Given the description of an element on the screen output the (x, y) to click on. 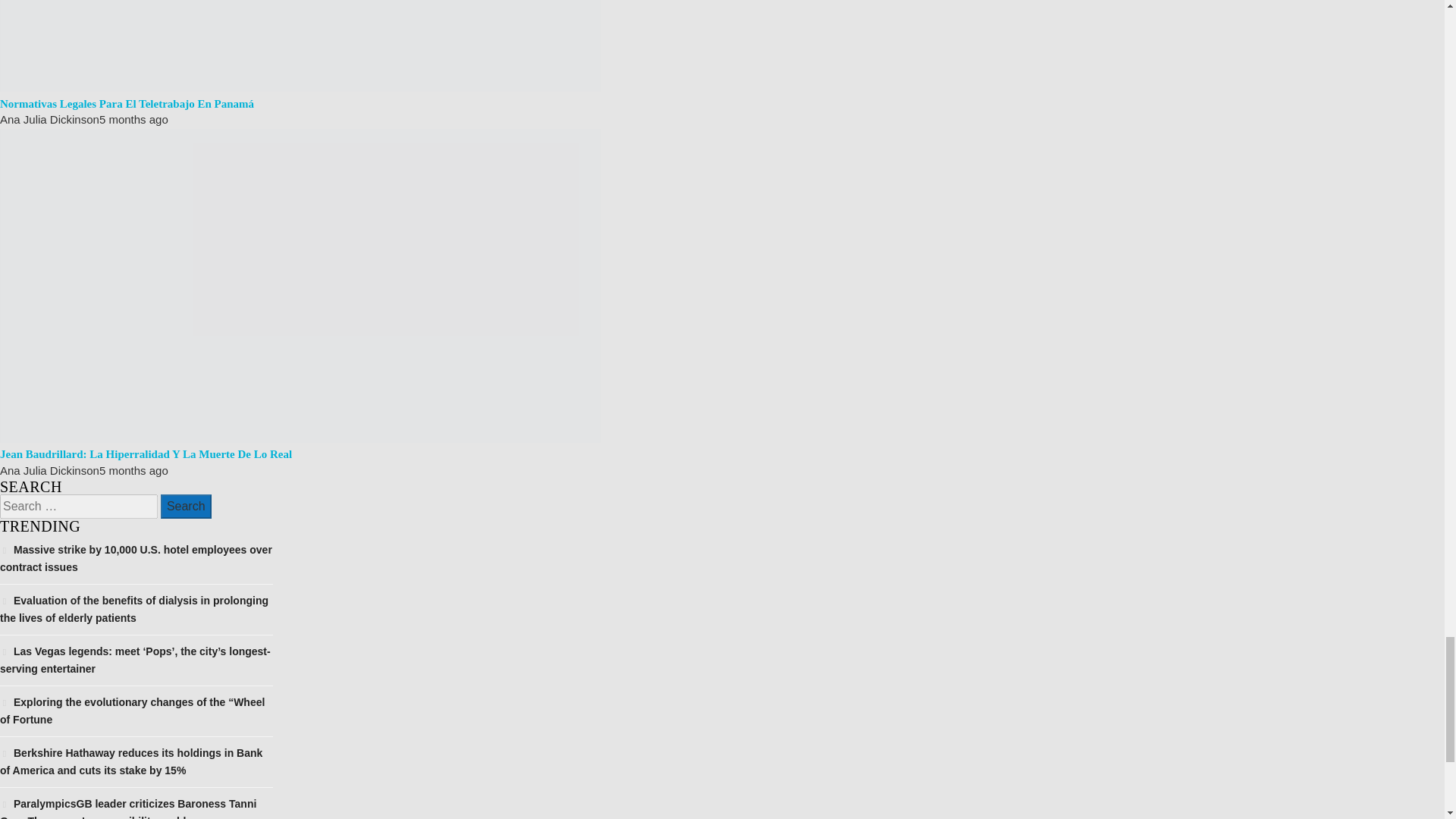
Search (185, 506)
Search (185, 506)
Jean Baudrillard: La Hiperralidad y la muerte de lo real (146, 453)
